Given the description of an element on the screen output the (x, y) to click on. 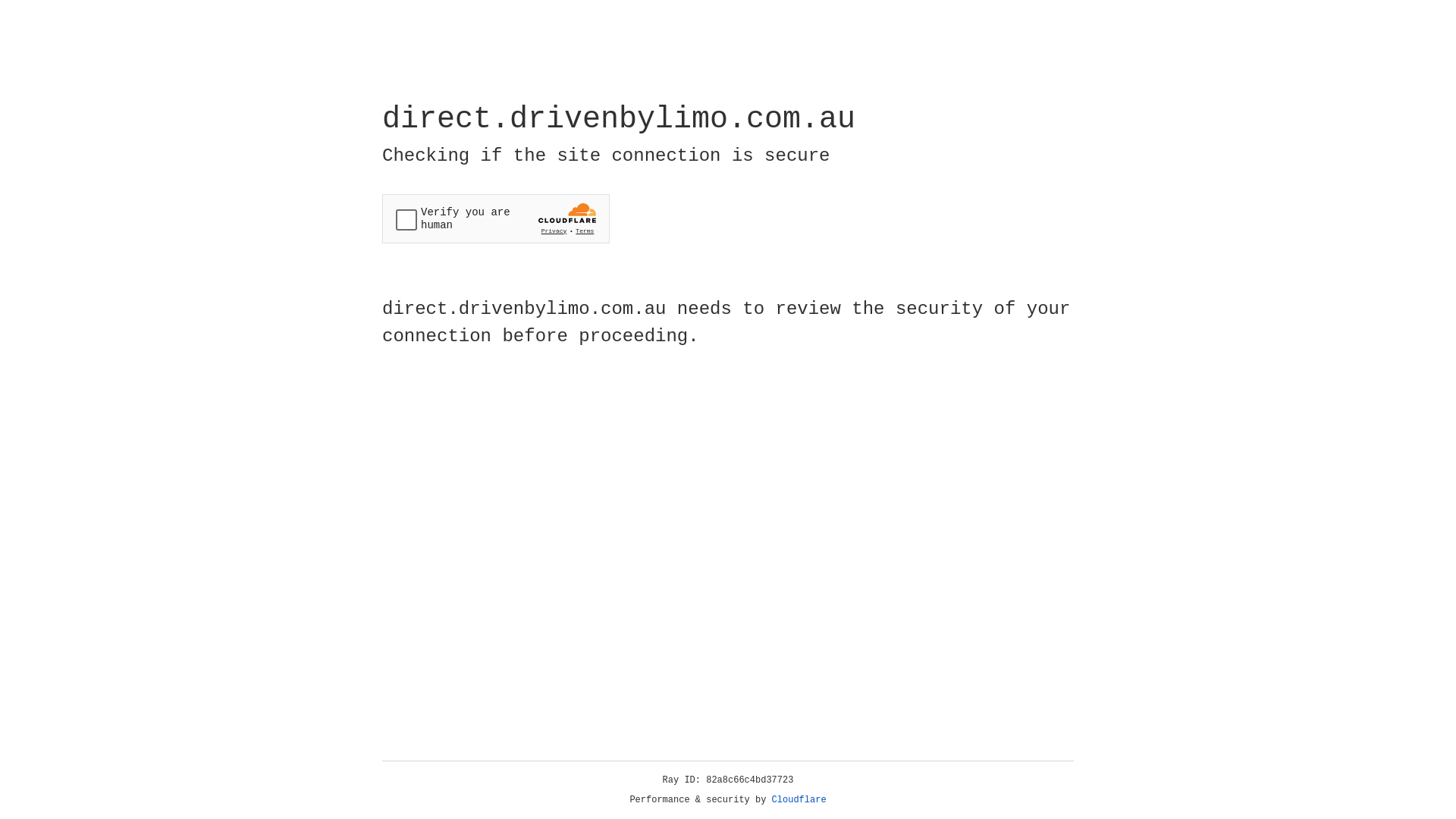
Widget containing a Cloudflare security challenge Element type: hover (495, 218)
Cloudflare Element type: text (798, 799)
